Given the description of an element on the screen output the (x, y) to click on. 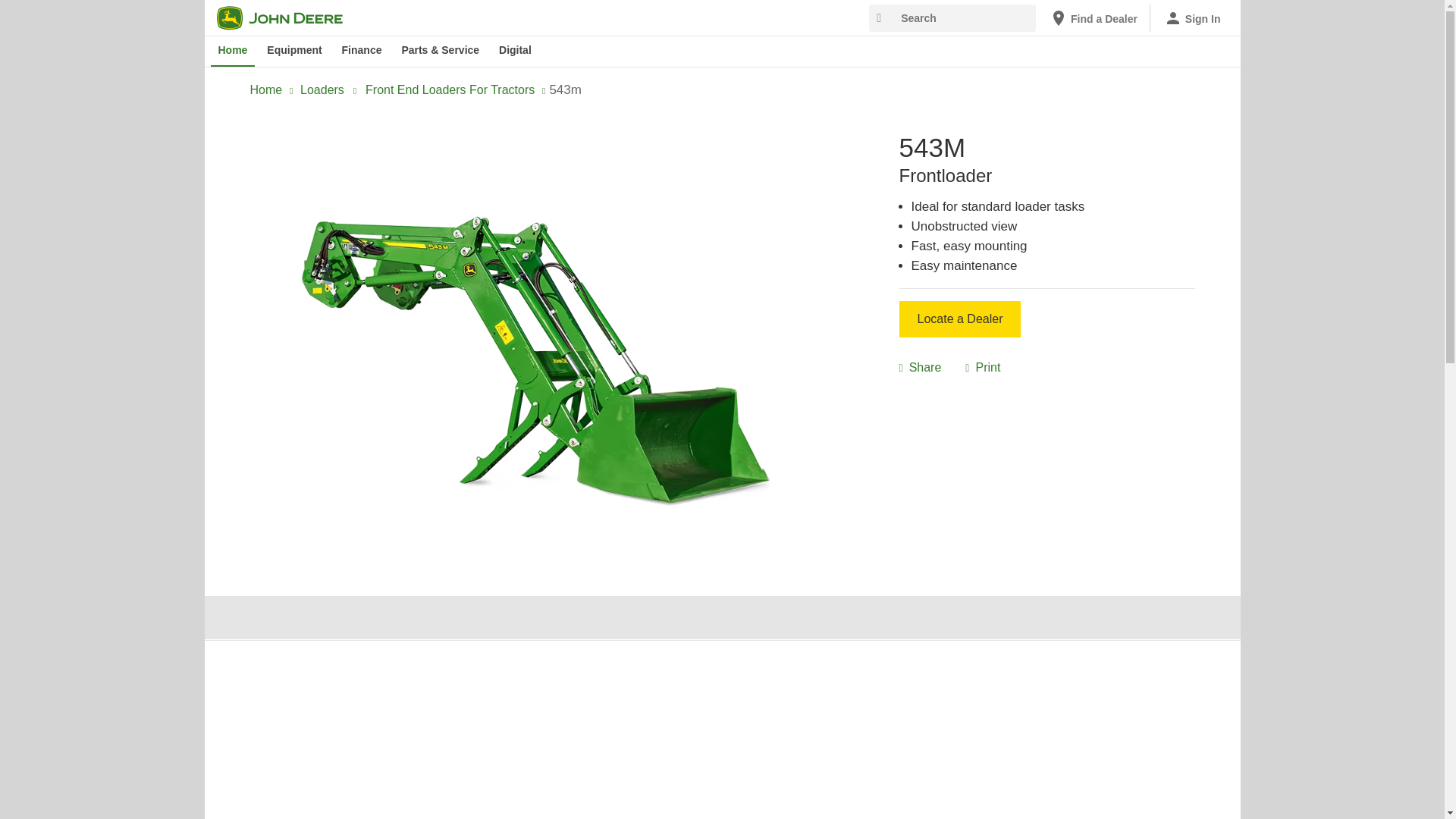
Skip to main content (214, 11)
Home (233, 51)
Equipment (294, 51)
Digital (515, 51)
Find a Dealer (1093, 17)
Sign In (1192, 17)
Finance (362, 51)
John Deere (288, 17)
